Given the description of an element on the screen output the (x, y) to click on. 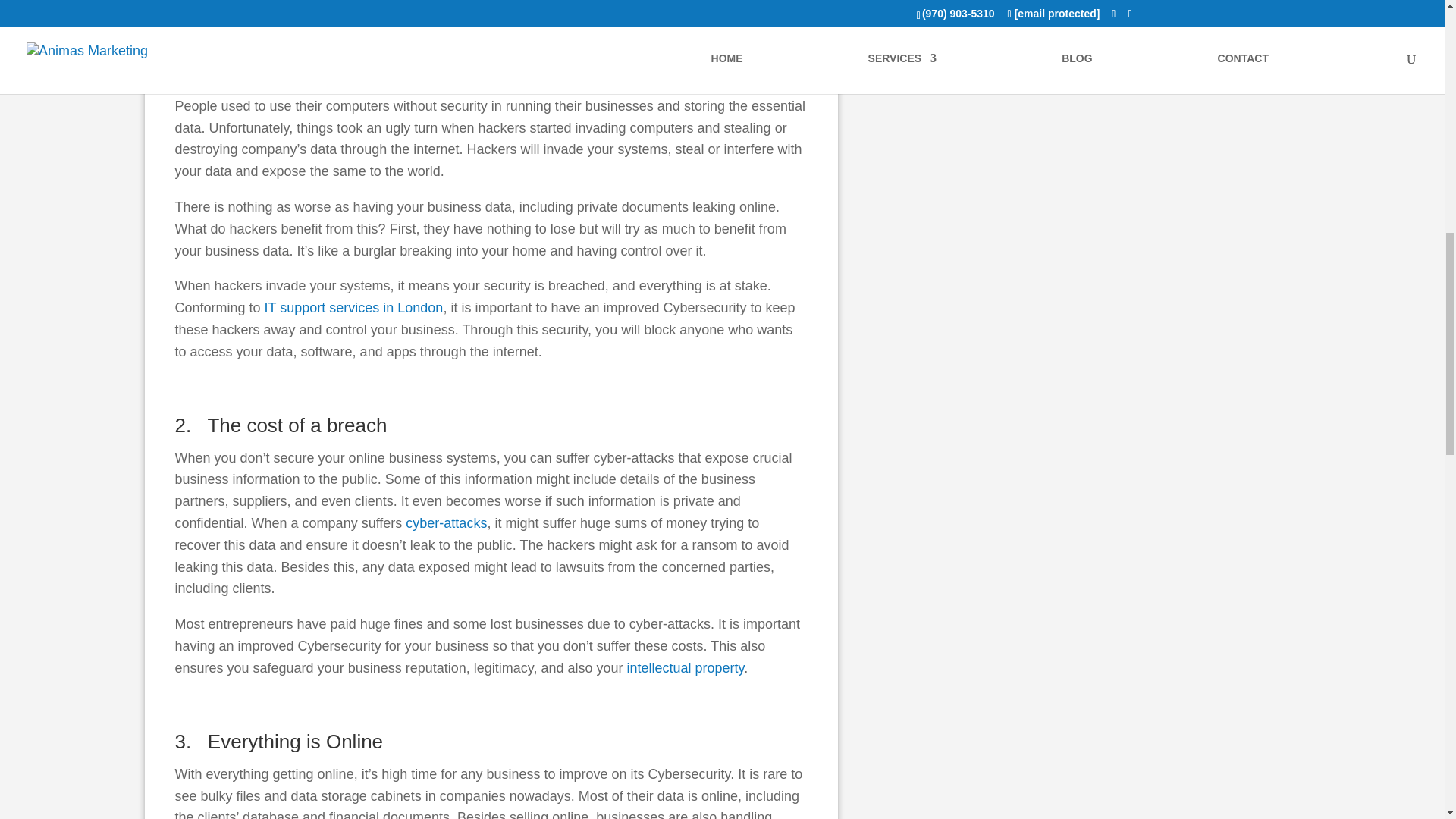
cyber-attacks (446, 522)
IT support services in London (354, 307)
intellectual property (685, 667)
